Given the description of an element on the screen output the (x, y) to click on. 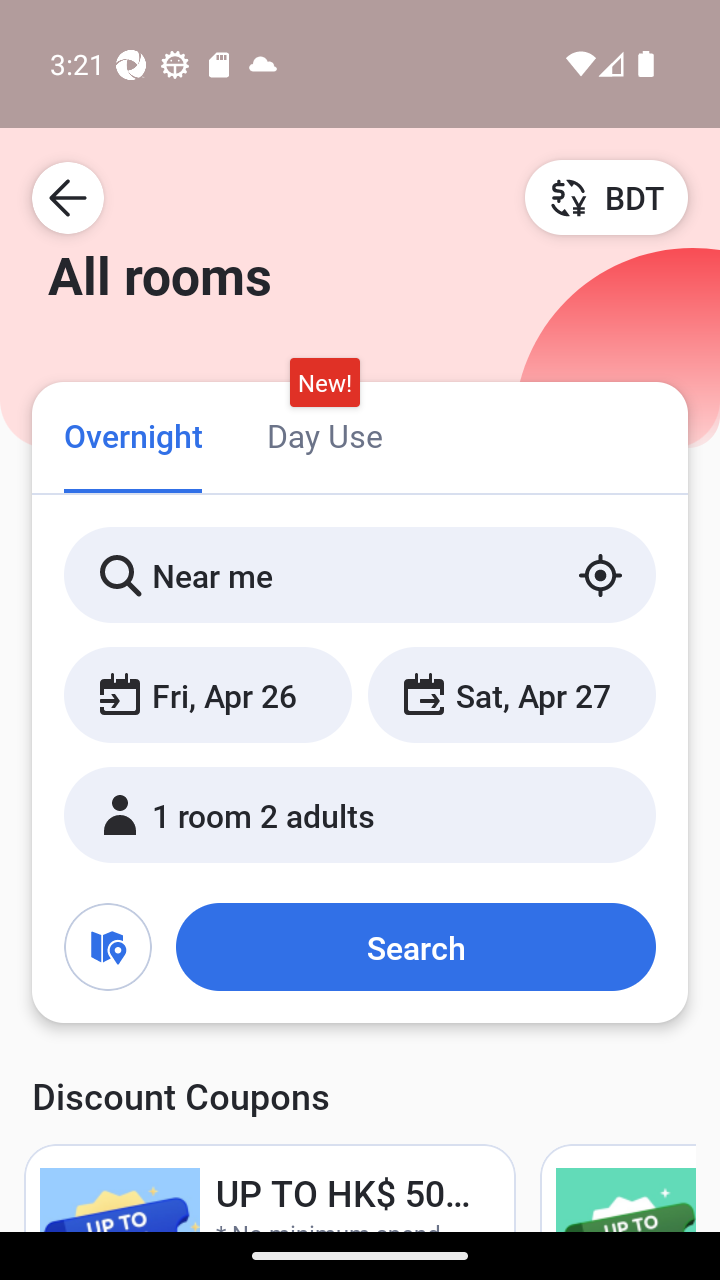
BDT (606, 197)
New! (324, 383)
Day Use (324, 434)
Near me (359, 575)
Fri, Apr 26 (208, 694)
Sat, Apr 27 (511, 694)
1 room 2 adults (359, 814)
Search (415, 946)
